Given the description of an element on the screen output the (x, y) to click on. 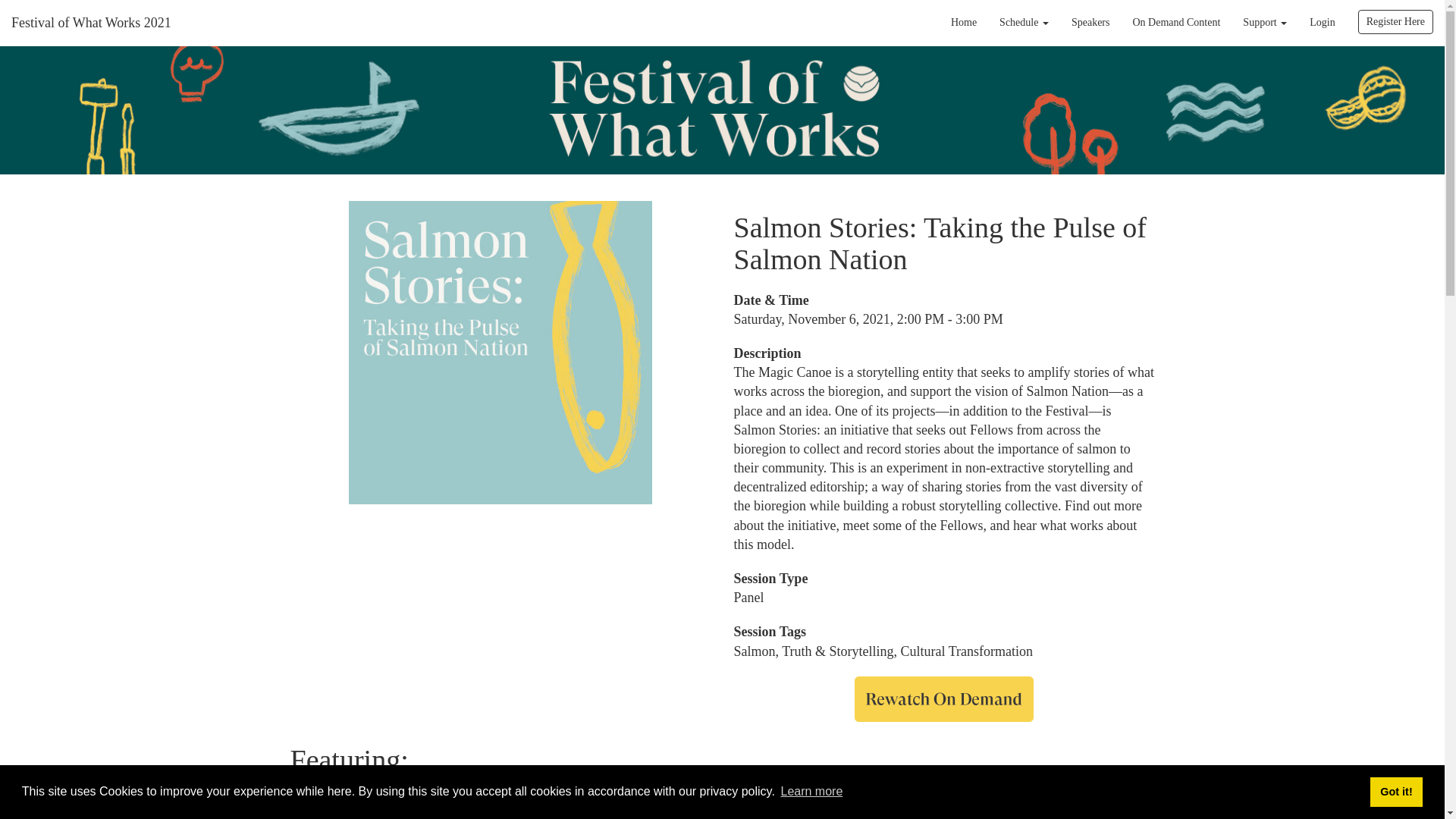
Got it! (1396, 791)
On Demand Content (1176, 22)
Learn more (810, 791)
Schedule (1023, 22)
Festival of What Works 2021 (91, 22)
Register Here (1395, 21)
Kyle Baker (320, 800)
Speaker Details (320, 800)
Login (1321, 22)
Support (1264, 22)
